Given the description of an element on the screen output the (x, y) to click on. 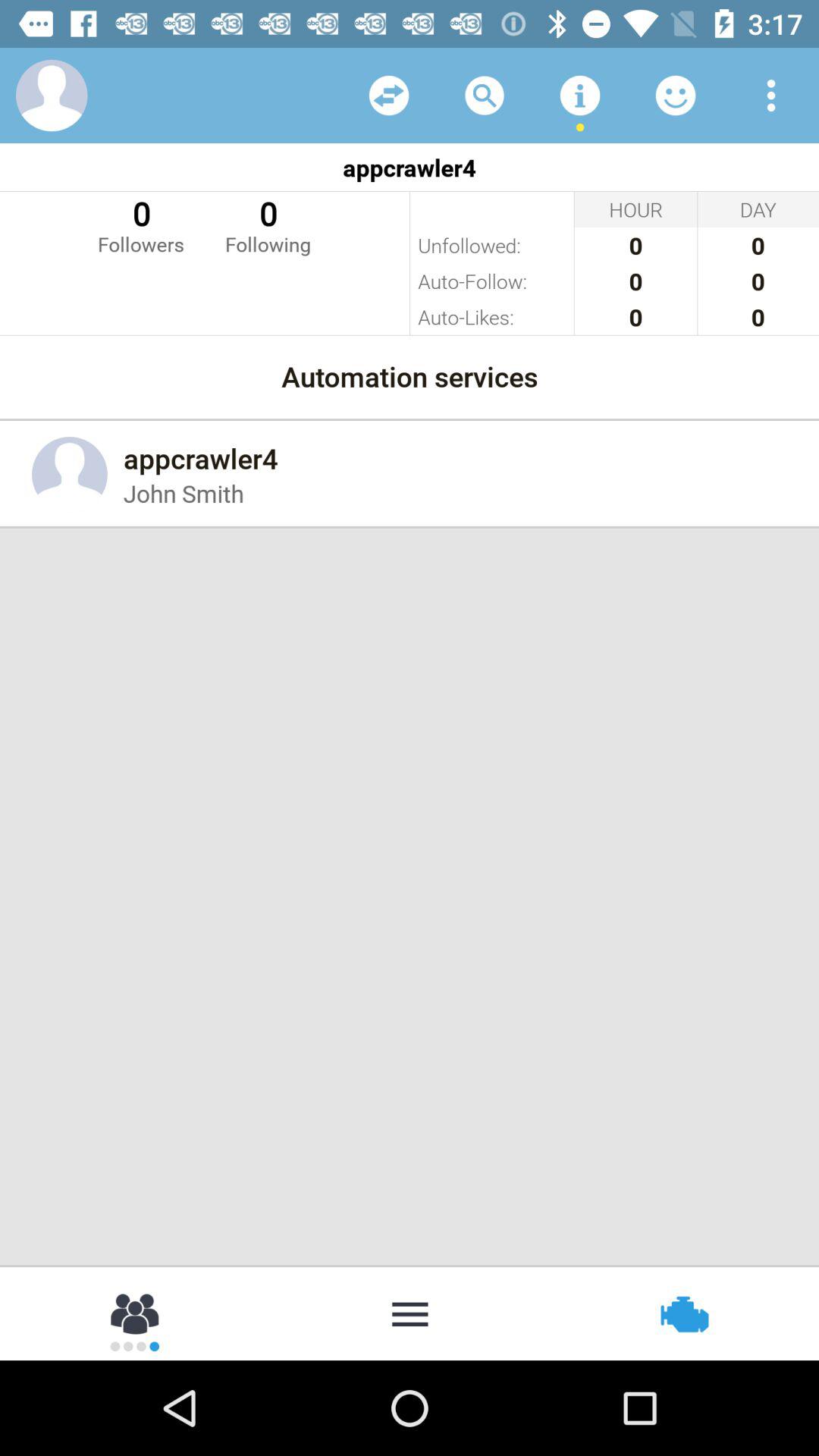
launch item above appcrawler4 item (771, 95)
